Given the description of an element on the screen output the (x, y) to click on. 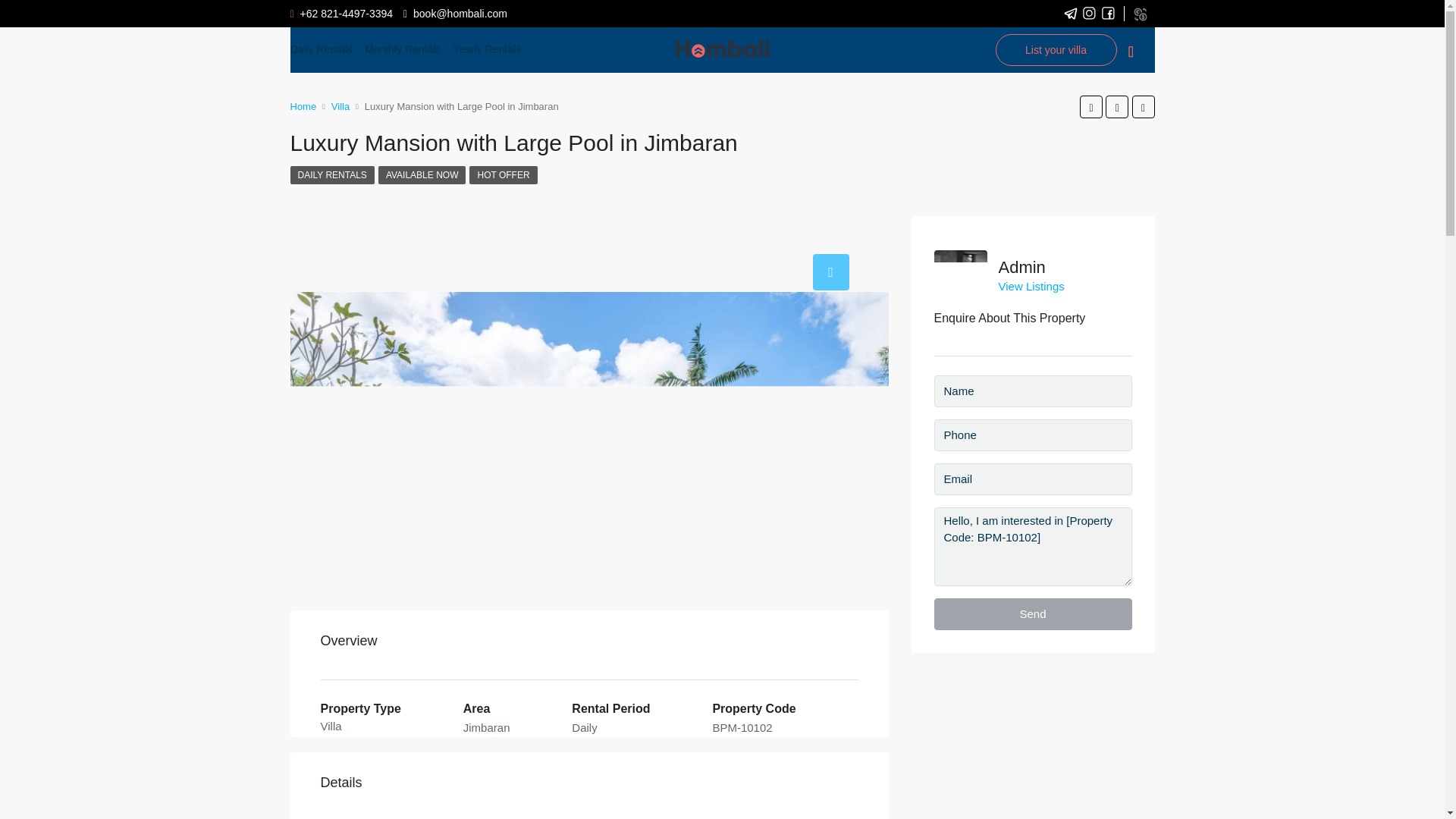
Monthly Rentals (403, 49)
AVAILABLE NOW (421, 175)
DAILY RENTALS (331, 175)
List your villa (1055, 50)
Daily Rentals (320, 49)
Home (302, 106)
HOT OFFER (502, 175)
Yearly Rentals (486, 49)
Villa (340, 106)
